Given the description of an element on the screen output the (x, y) to click on. 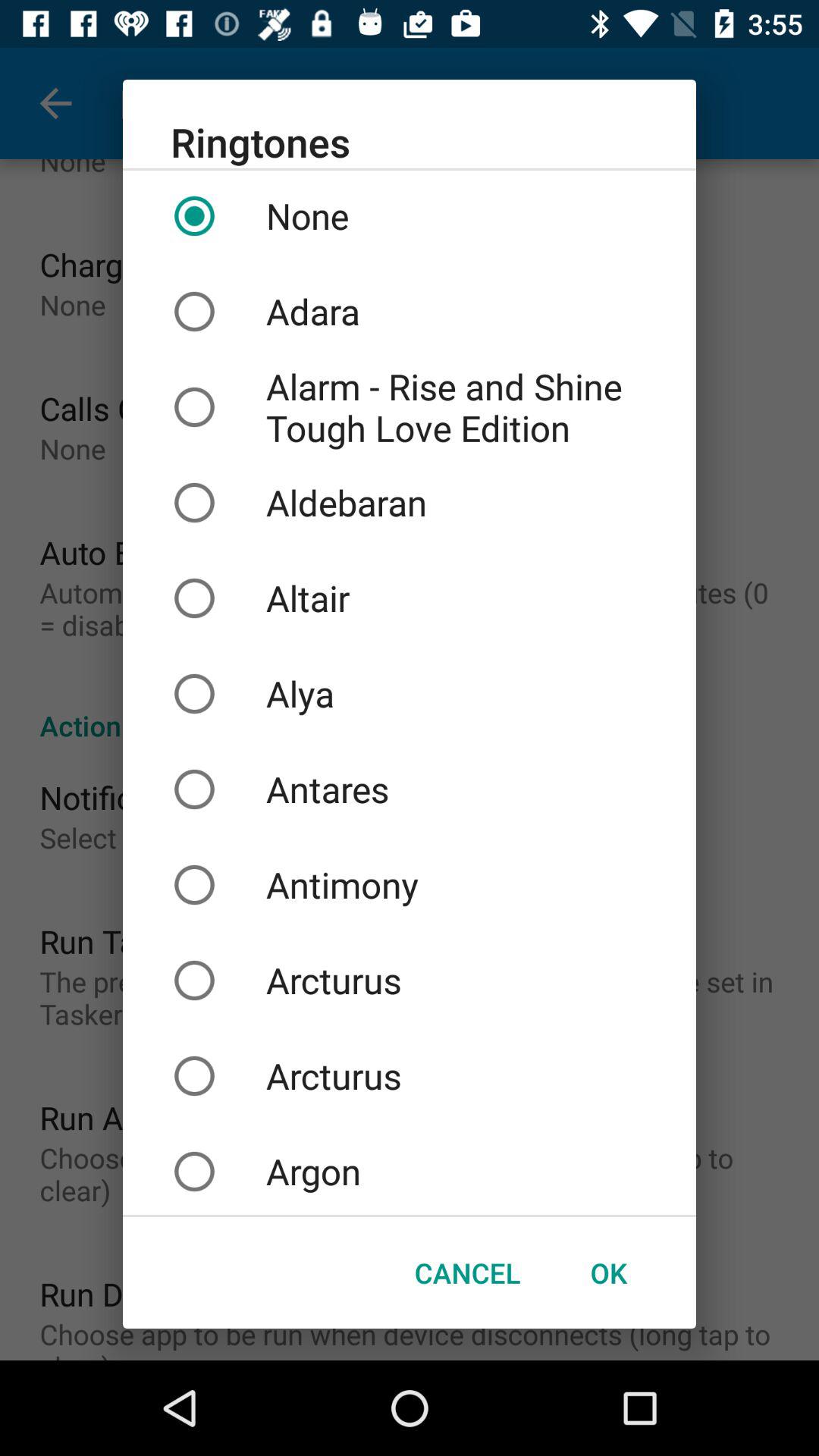
click ok at the bottom right corner (608, 1272)
